Given the description of an element on the screen output the (x, y) to click on. 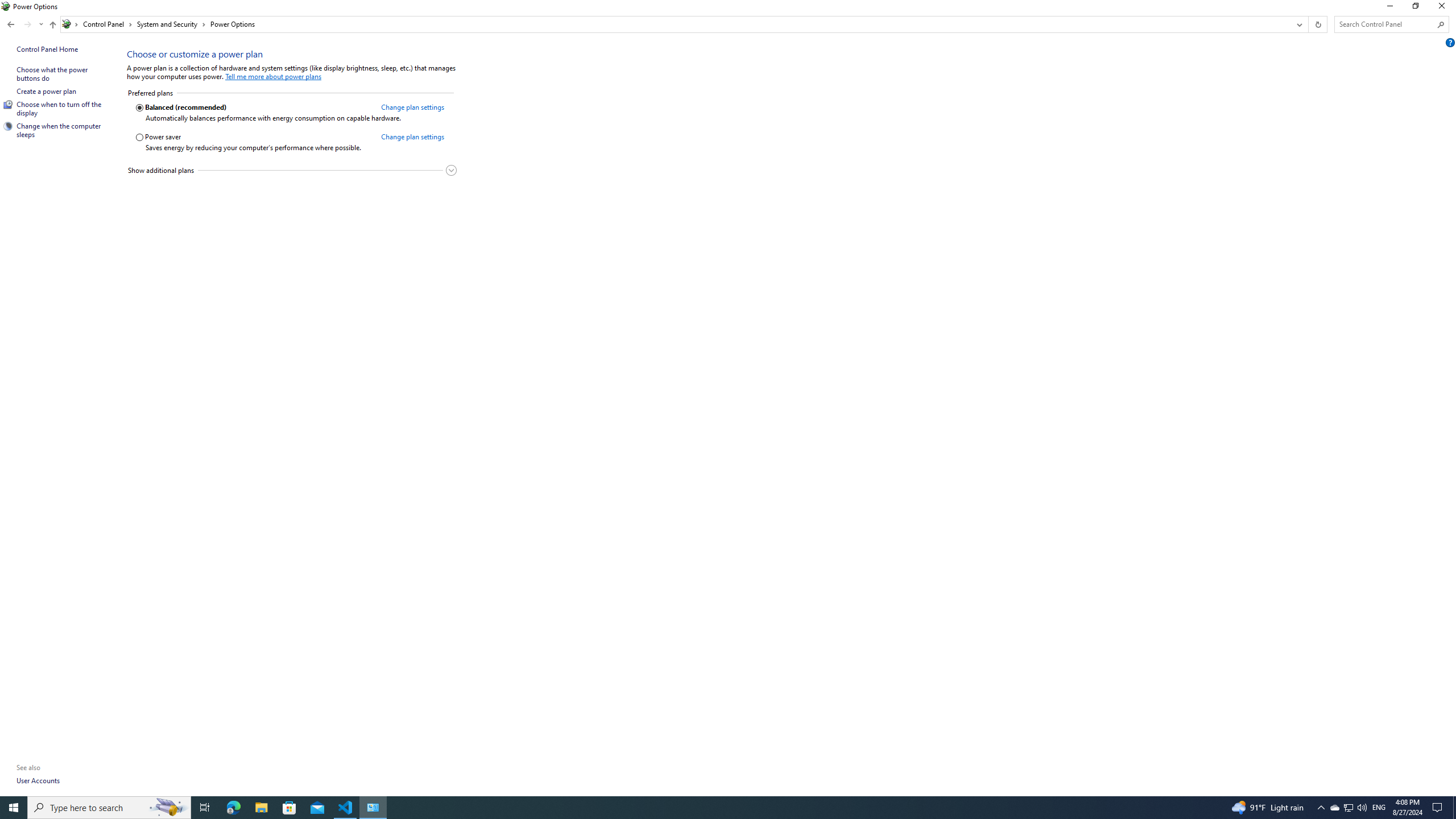
Back to System and Security (Alt + Left Arrow) (10, 23)
Power saver (253, 137)
Address band toolbar (1308, 23)
Create a power plan (46, 90)
Choose what the power buttons do (53, 73)
Running applications (706, 807)
Help (1450, 42)
Search Box (1386, 23)
Balanced (recommended) (253, 108)
Up band toolbar (52, 26)
System (6, 6)
Change when the computer sleeps (59, 130)
Restore (1415, 8)
